Given the description of an element on the screen output the (x, y) to click on. 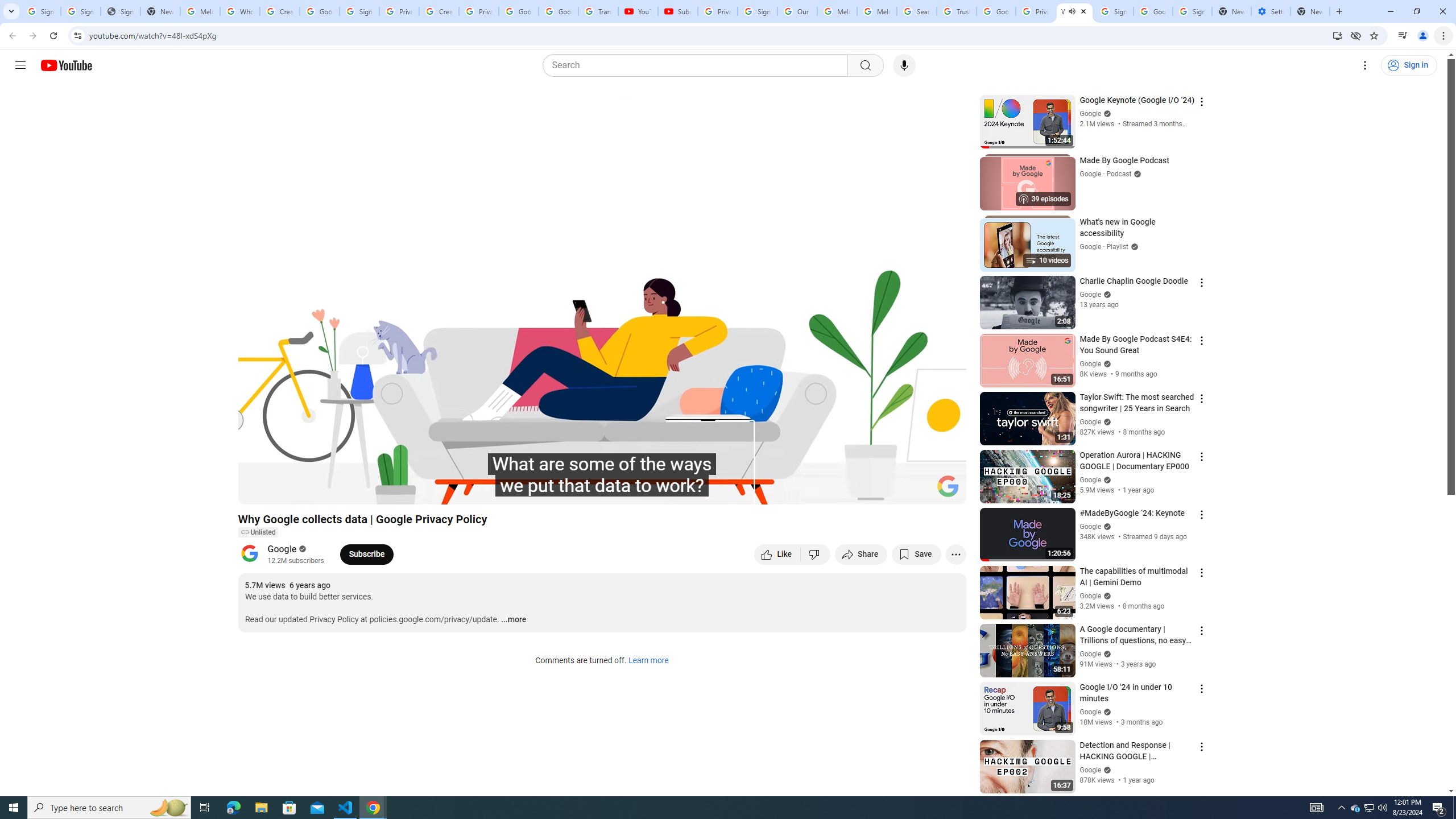
YouTube (637, 11)
...more (512, 620)
Action menu (1200, 746)
Mute (m) (312, 490)
Search with your voice (903, 65)
Learn more (647, 661)
Google Account (557, 11)
Theater mode (t) (917, 490)
